Given the description of an element on the screen output the (x, y) to click on. 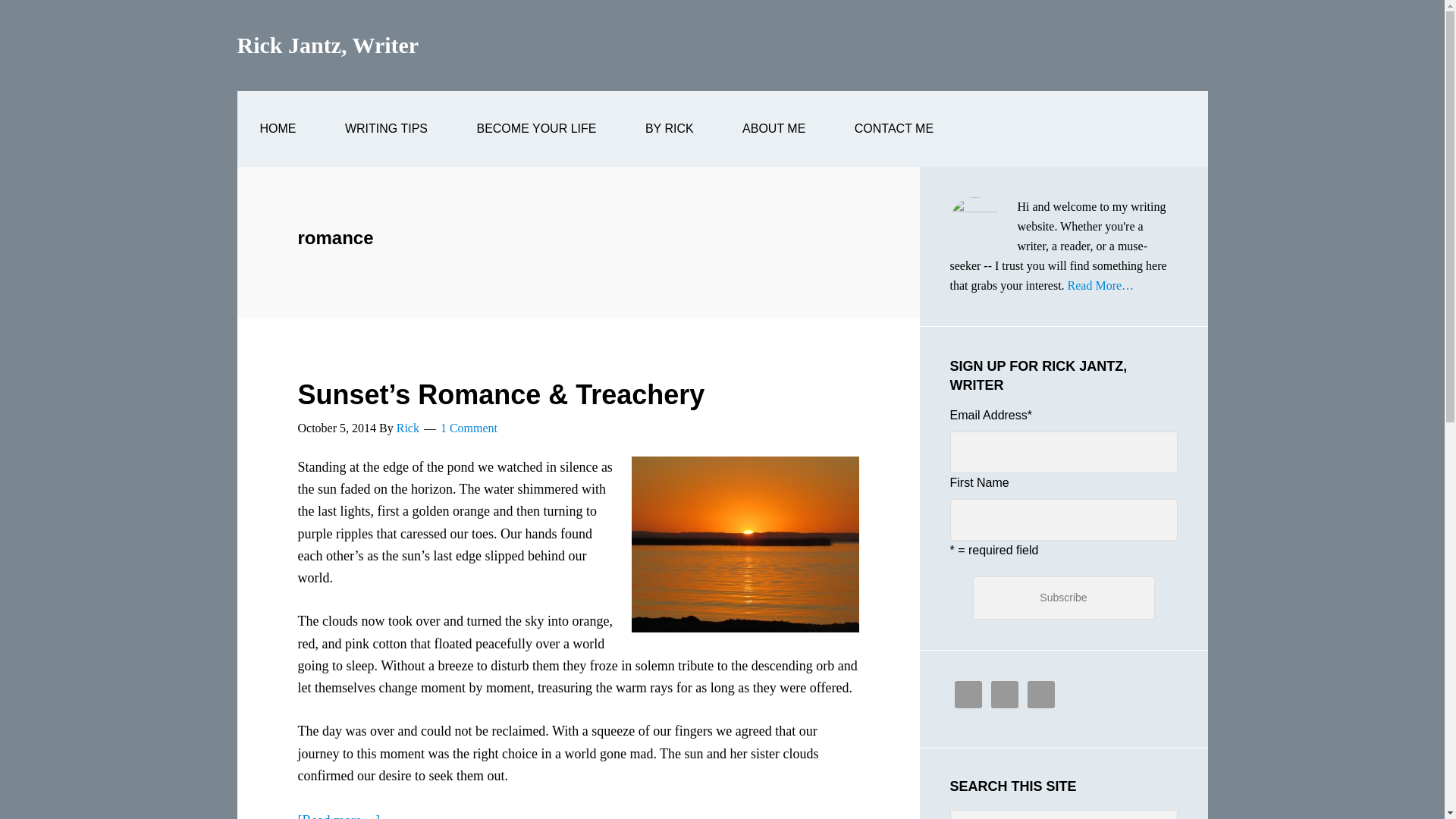
CONTACT ME (893, 128)
Subscribe (1063, 597)
ABOUT ME (773, 128)
WRITING TIPS (385, 128)
1 Comment (469, 427)
BY RICK (669, 128)
BECOME YOUR LIFE (535, 128)
HOME (276, 128)
Subscribe (1063, 597)
Rick (407, 427)
Rick Jantz, Writer (327, 44)
